Given the description of an element on the screen output the (x, y) to click on. 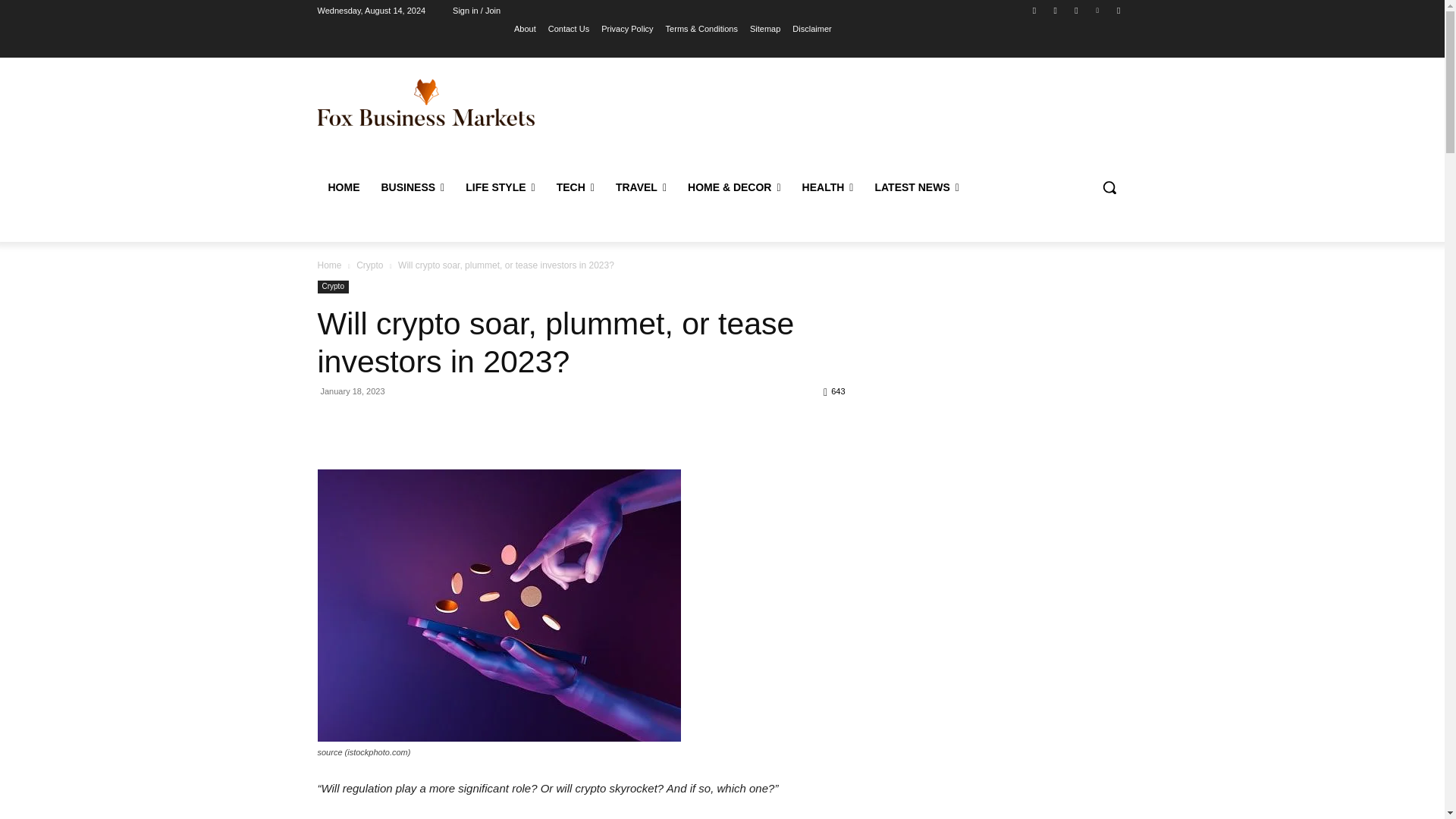
Twitter (1075, 9)
View all posts in Crypto (369, 265)
Vimeo (1097, 9)
Instagram (1055, 9)
Privacy Policy (626, 28)
Sitemap (764, 28)
investors (498, 605)
Youtube (1117, 9)
Contact Us (568, 28)
About (524, 28)
